Given the description of an element on the screen output the (x, y) to click on. 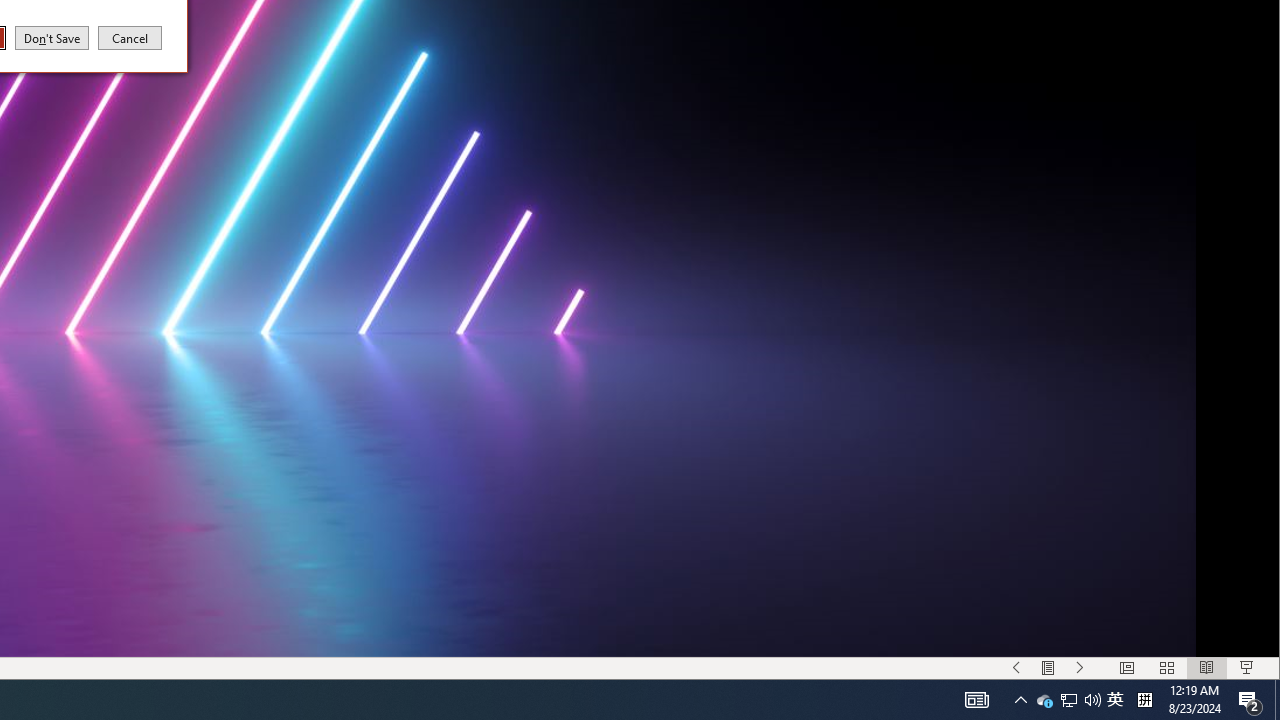
Q2790: 100% (1092, 699)
Show desktop (1044, 699)
Slide Show Next On (1277, 699)
